Given the description of an element on the screen output the (x, y) to click on. 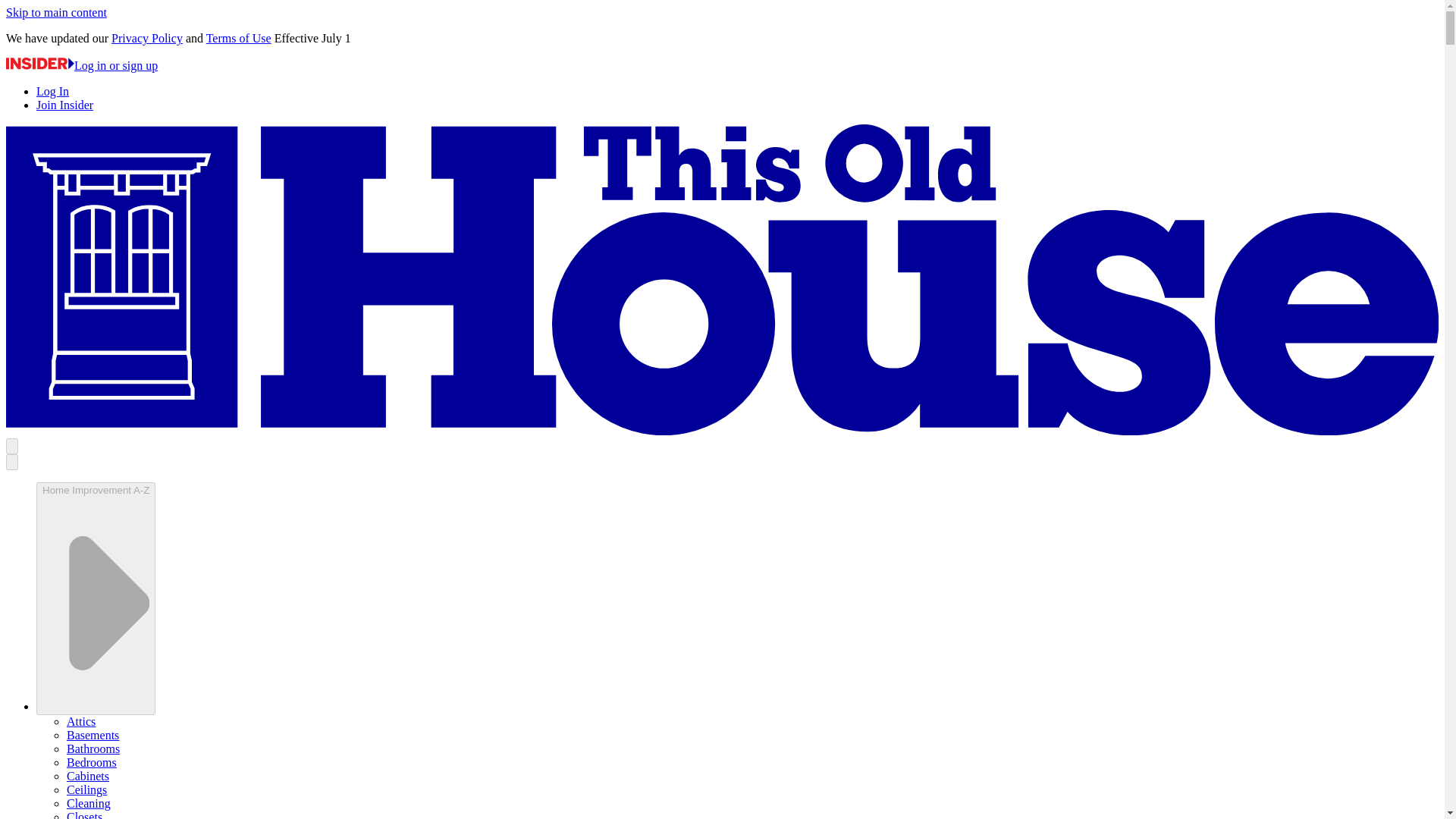
Cabinets (87, 775)
Log In (52, 91)
Log in or sign up (81, 65)
Ceilings (86, 789)
Privacy Policy (147, 38)
Closets (83, 814)
Cleaning (88, 802)
Join Insider (64, 104)
Terms of Use (238, 38)
Skip to main content (55, 11)
